Given the description of an element on the screen output the (x, y) to click on. 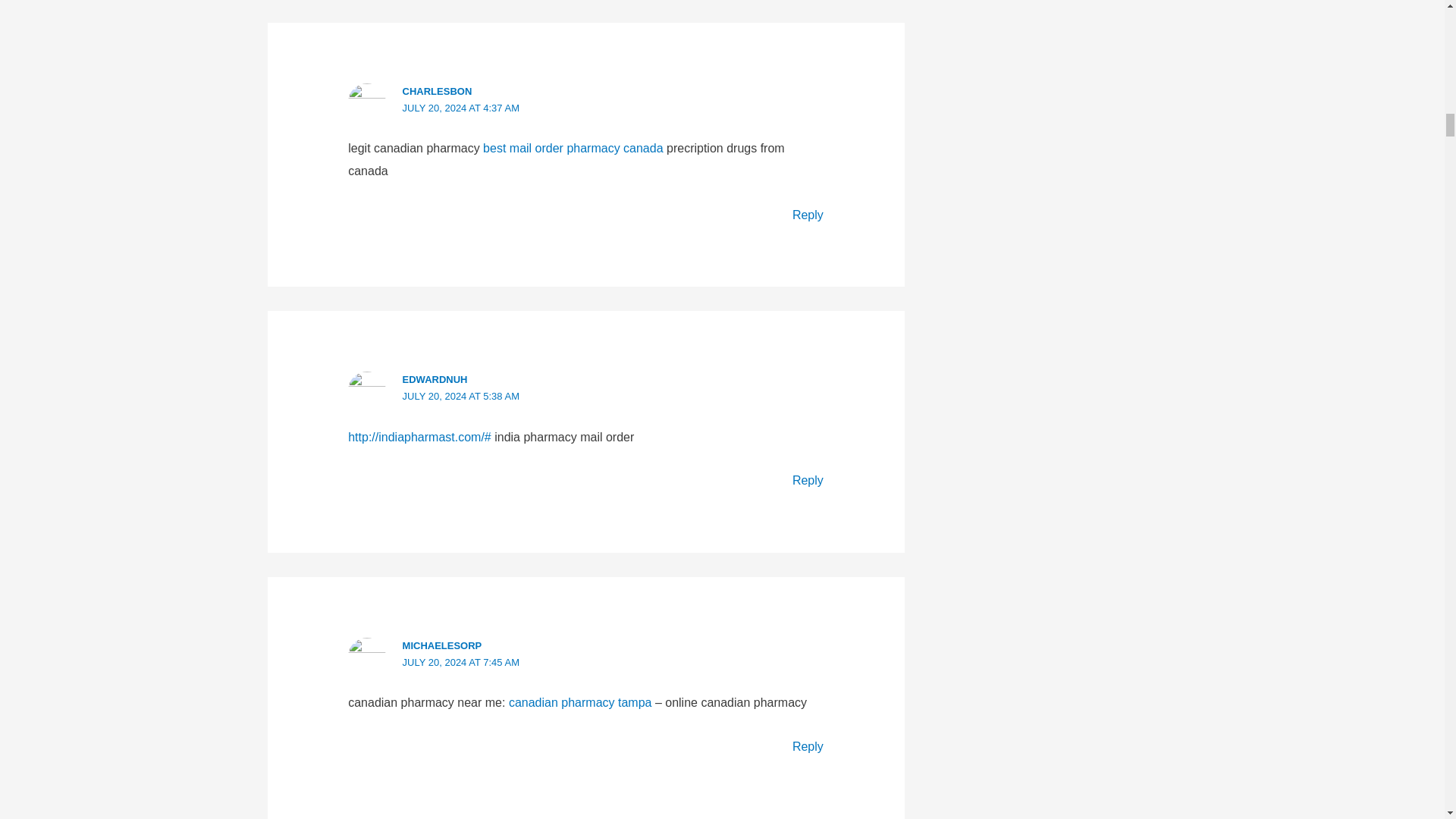
JULY 20, 2024 AT 7:45 AM (461, 662)
JULY 20, 2024 AT 4:37 AM (461, 107)
canadian pharmacy tampa (580, 702)
JULY 20, 2024 AT 5:38 AM (461, 396)
Reply (808, 214)
Reply (808, 480)
best mail order pharmacy canada (572, 147)
